Given the description of an element on the screen output the (x, y) to click on. 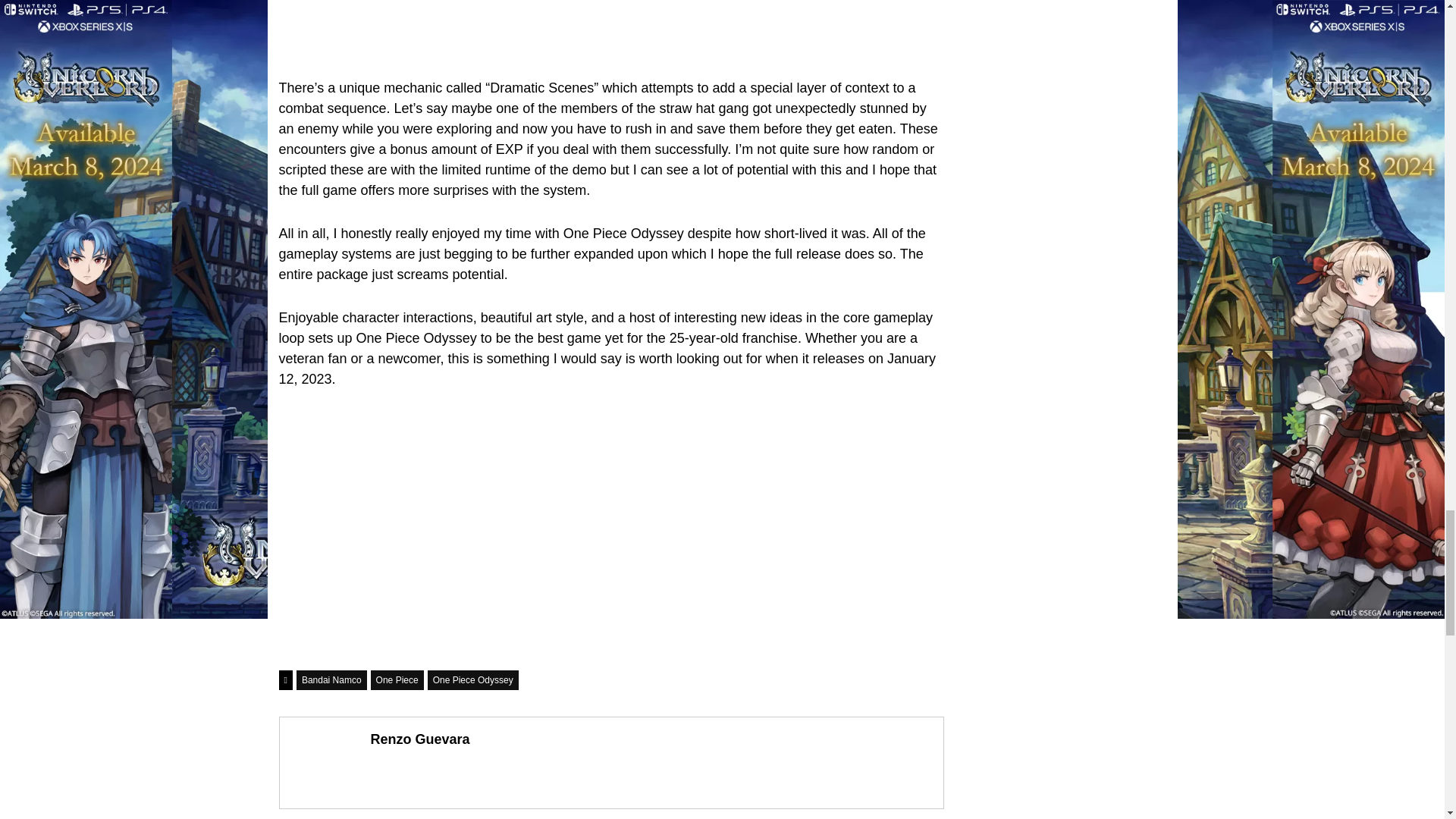
One Piece (397, 680)
Bandai Namco (331, 680)
One Piece Odyssey (473, 680)
Renzo Guevara (418, 739)
